Given the description of an element on the screen output the (x, y) to click on. 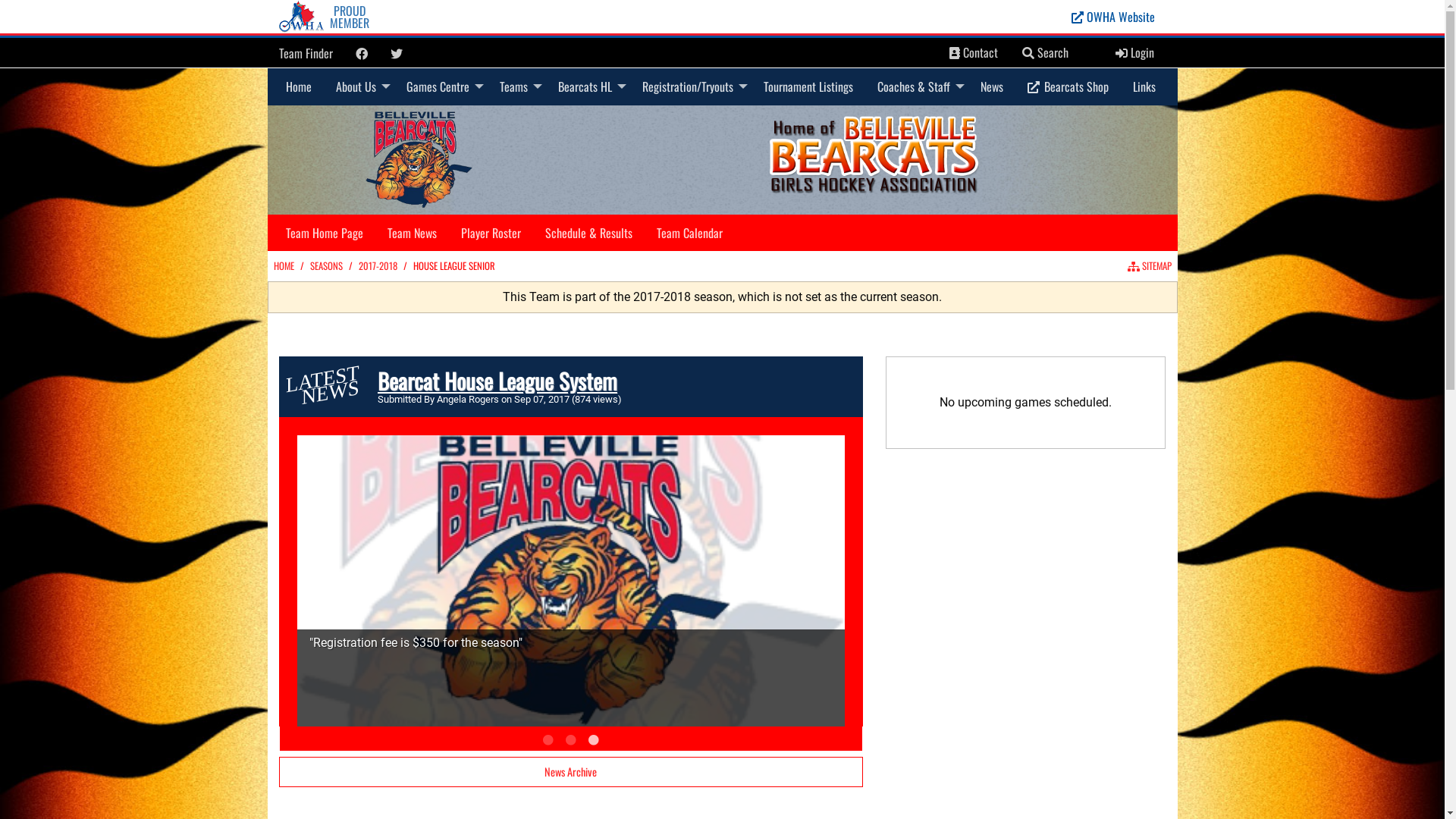
Team News Element type: text (411, 232)
Twitter Element type: hover (395, 53)
2 Element type: text (569, 739)
Coaches & Staff Element type: text (915, 86)
Contacts Element type: hover (954, 53)
Home Element type: text (298, 86)
Teams Element type: text (515, 86)
3 Element type: text (592, 739)
 Search Element type: text (1045, 52)
 Contact Element type: text (973, 52)
News Element type: text (990, 86)
Bearcats Shop Element type: text (1067, 86)
SEASONS Element type: text (325, 265)
 SITEMAP Element type: text (1148, 265)
Bearcats HL Element type: text (588, 86)
Team Home Page Element type: text (323, 232)
Games Centre Element type: text (440, 86)
Facebook Element type: hover (360, 53)
 Login Element type: text (1133, 52)
About Us Element type: text (358, 86)
Team Finder Element type: text (305, 52)
Team Calendar Element type: text (689, 232)
Bearcat House League System Element type: text (497, 380)
Schedule & Results Element type: text (587, 232)
Player Roster Element type: text (490, 232)
News Archive Element type: text (570, 771)
2017-2018 Element type: text (376, 265)
Registration/Tryouts Element type: text (689, 86)
HOME Element type: text (283, 265)
Tournament Listings Element type: text (807, 86)
Search Element type: hover (1028, 53)
1 Element type: text (547, 739)
OWHA Website Element type: text (1113, 16)
Links Element type: text (1143, 86)
